Given the description of an element on the screen output the (x, y) to click on. 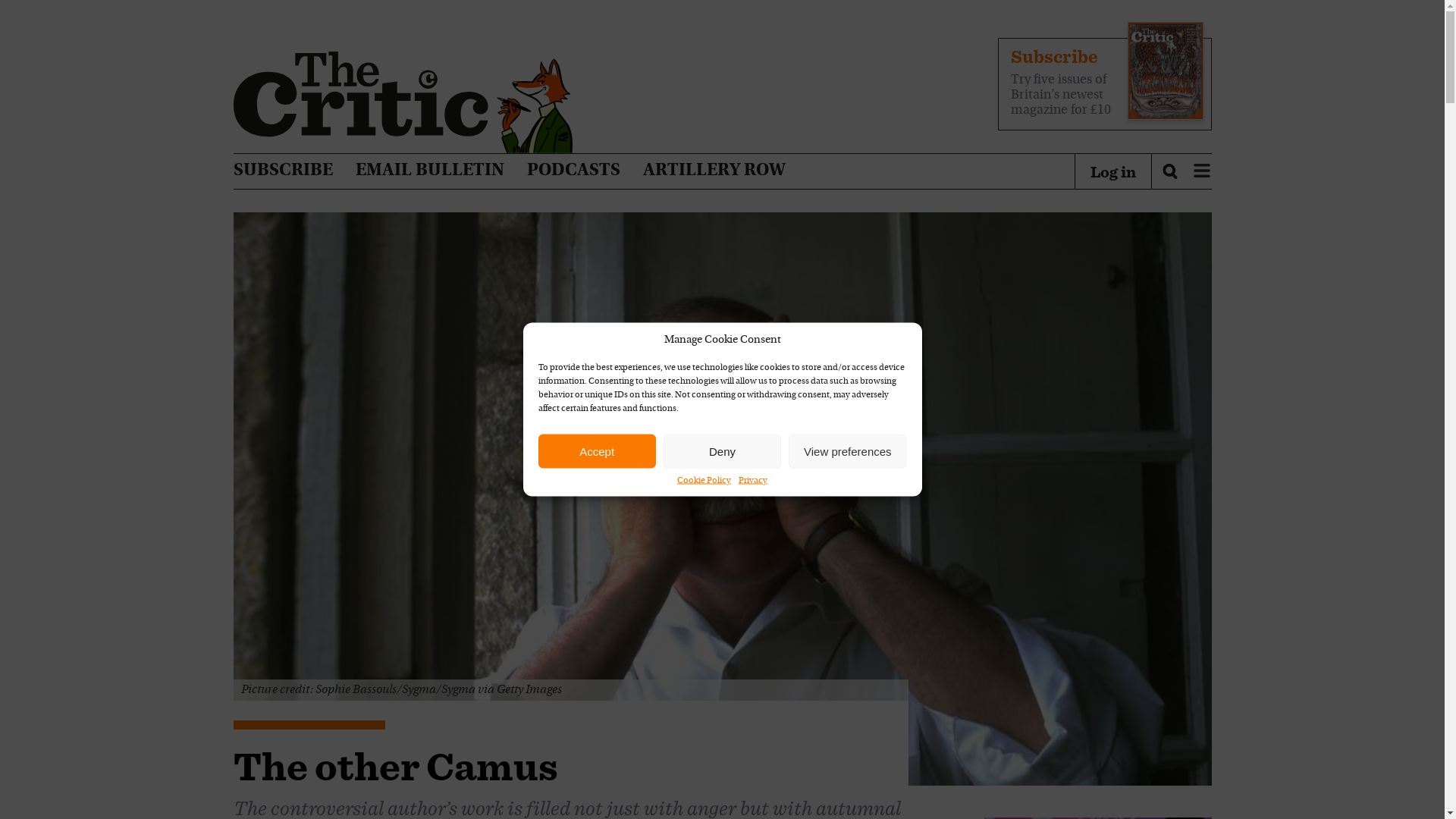
SUBSCRIBE (282, 171)
Privacy (752, 480)
Deny (721, 450)
Log in (1112, 171)
View preferences (847, 450)
EMAIL BULLETIN (429, 171)
Cookie Policy (703, 480)
ARTILLERY ROW (714, 171)
PODCASTS (572, 171)
Accept (597, 450)
